Given the description of an element on the screen output the (x, y) to click on. 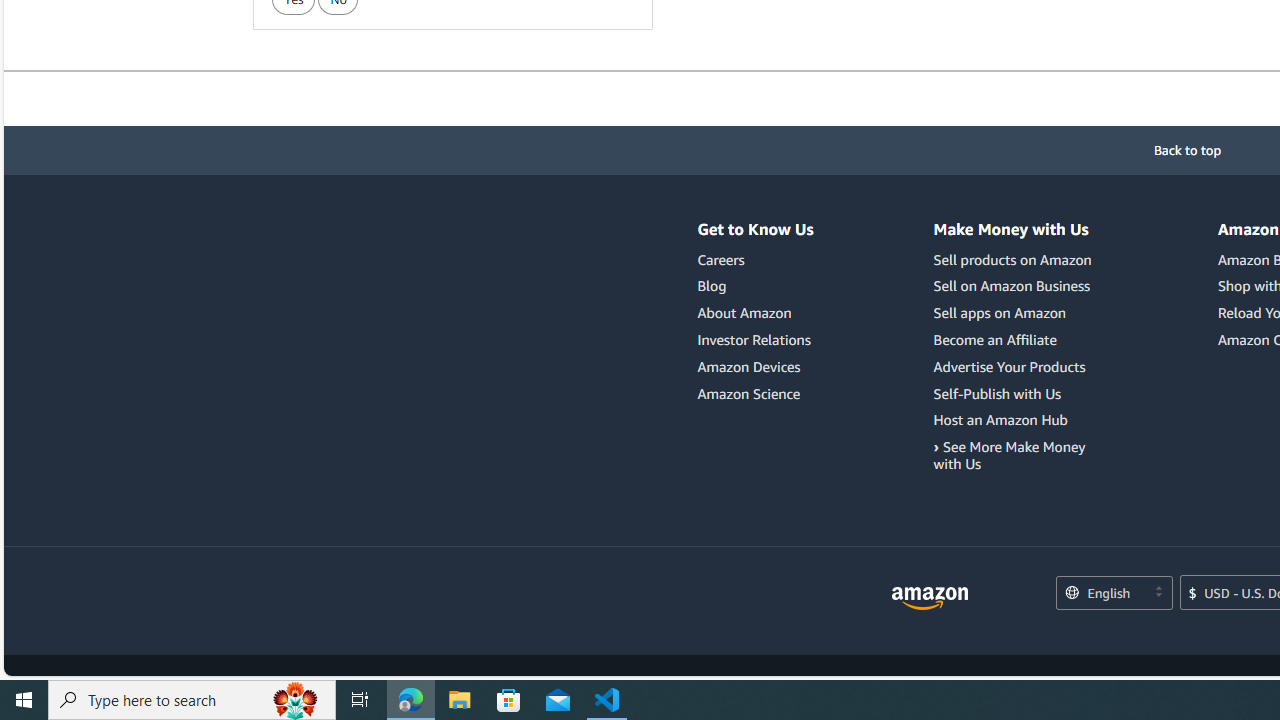
About Amazon (744, 313)
Blog (712, 286)
Investor Relations (755, 340)
Sell apps on Amazon (1000, 313)
Advertise Your Products (1009, 366)
See More Make Money with Us (1009, 455)
Sell products on Amazon (1012, 259)
Blog (755, 286)
Choose a language for shopping. (1113, 593)
Self-Publish with Us (1015, 394)
Sell on Amazon Business (1015, 286)
Advertise Your Products (1015, 366)
Self-Publish with Us (997, 393)
About Amazon (755, 313)
Become an Affiliate (995, 339)
